Given the description of an element on the screen output the (x, y) to click on. 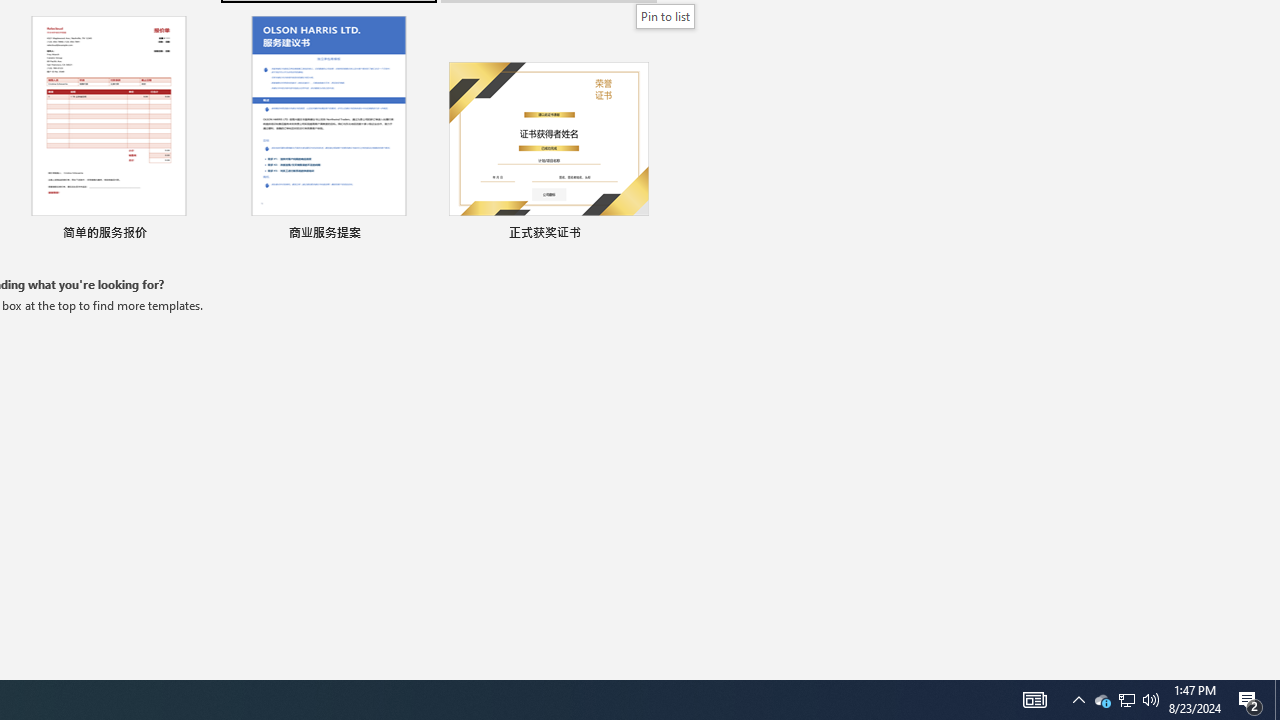
Pin to list (665, 16)
Pin to list (635, 234)
